Given the description of an element on the screen output the (x, y) to click on. 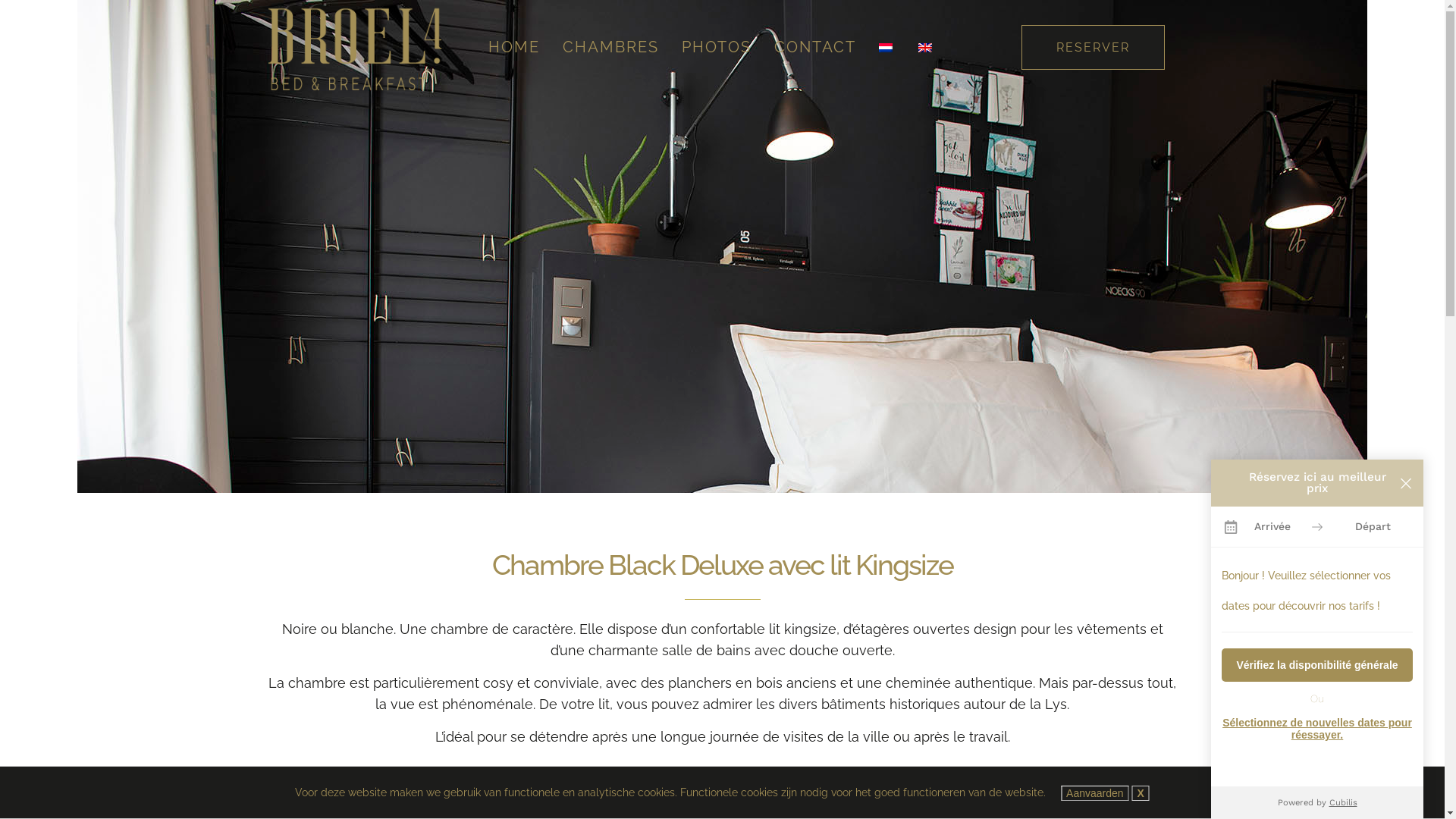
RESERVER Element type: text (1092, 47)
PHOTOS Element type: text (716, 47)
HOME Element type: text (513, 47)
X Element type: text (1140, 792)
CHAMBRES Element type: text (609, 47)
CONTACT Element type: text (814, 47)
Aanvaarden Element type: text (1094, 792)
